Given the description of an element on the screen output the (x, y) to click on. 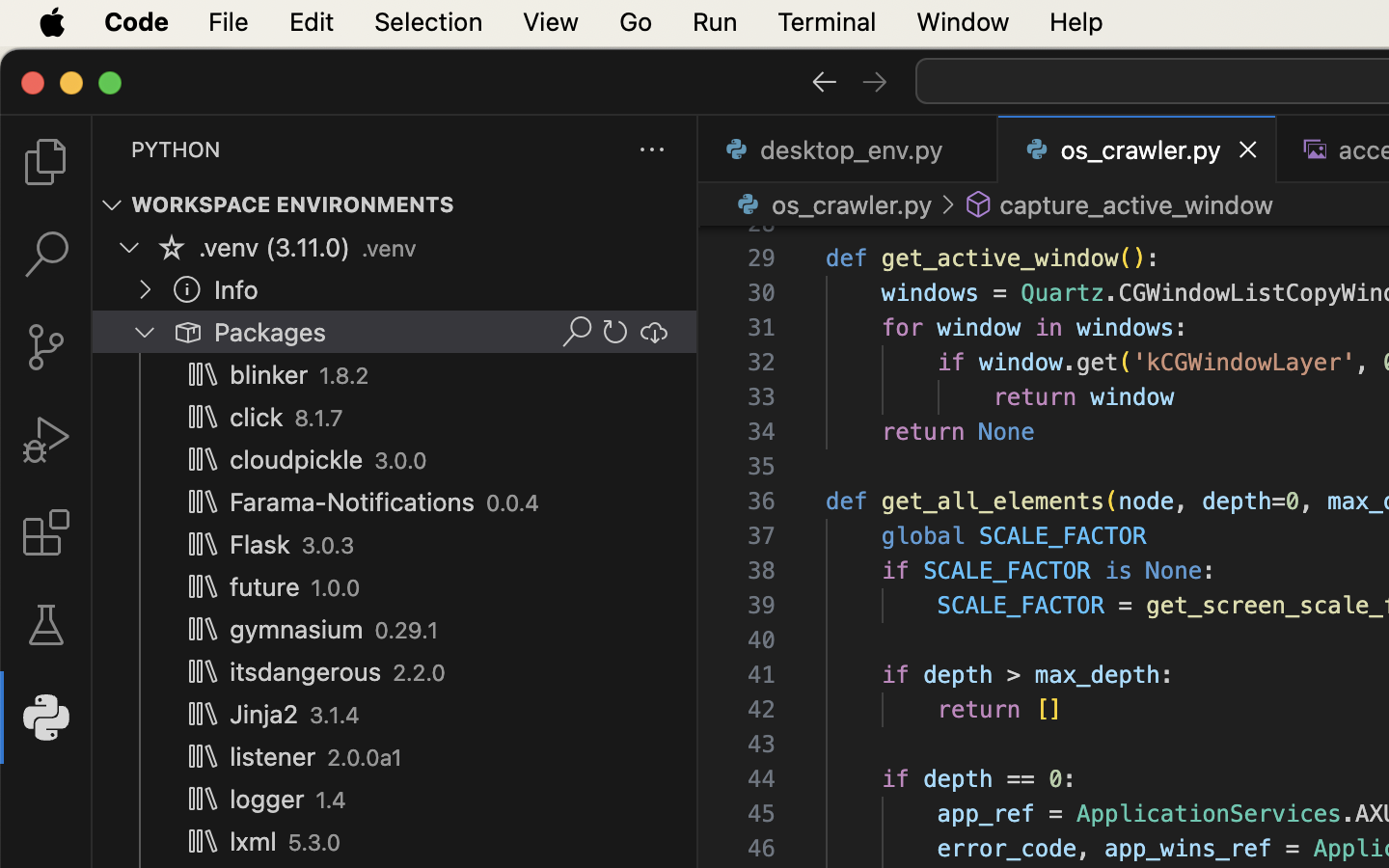
 Element type: AXButton (576, 331)
listener Element type: AXStaticText (272, 756)
0.29.1 Element type: AXStaticText (406, 630)
1 os_crawler.py   Element type: AXRadioButton (1138, 149)
2.2.0 Element type: AXStaticText (418, 672)
